Given the description of an element on the screen output the (x, y) to click on. 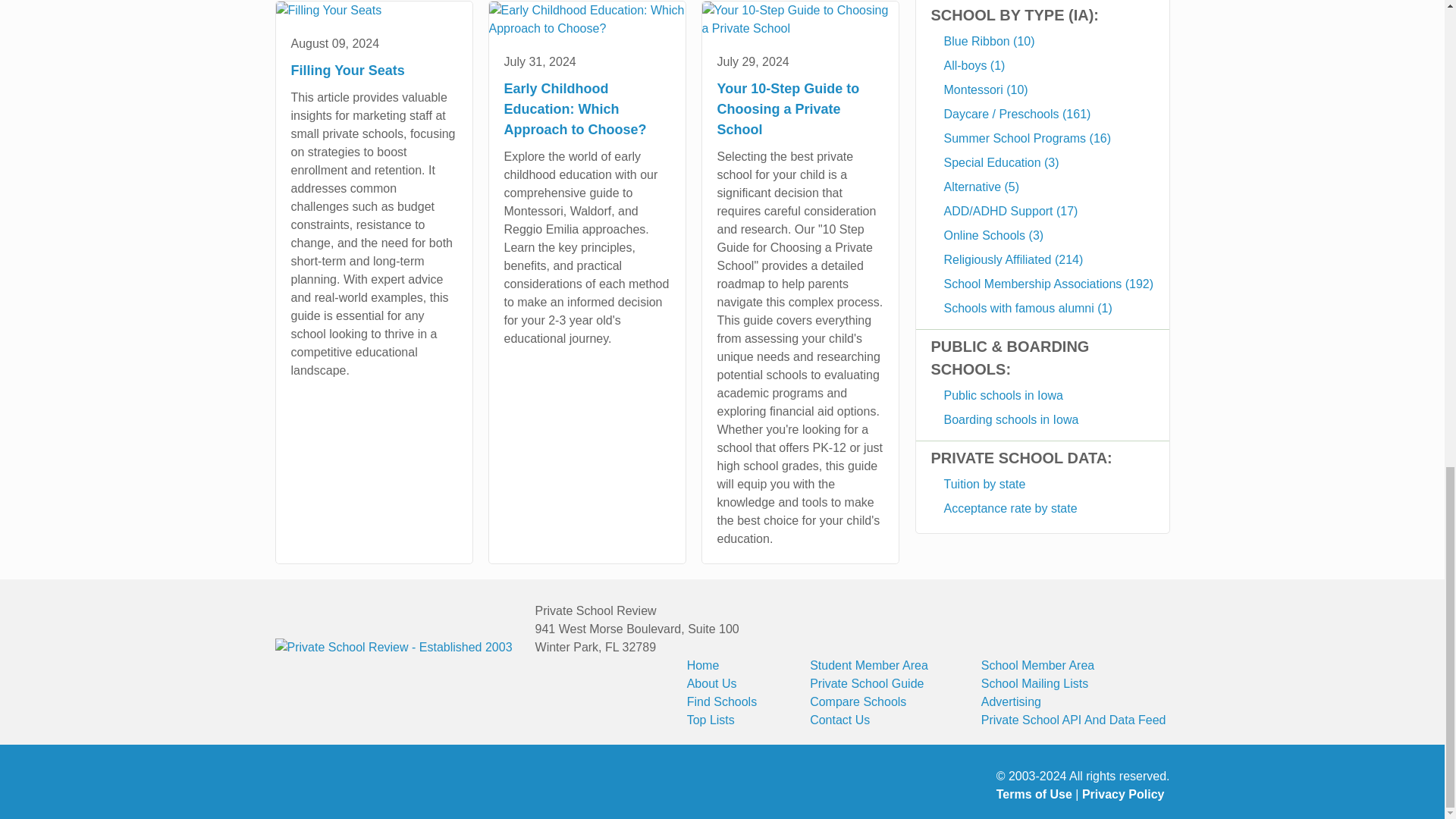
Filling Your Seats (374, 70)
Private School Review - Twitter  (288, 787)
Public schools in Iowa (1050, 395)
Filling Your Seats (328, 10)
Boarding schools in Iowa (1050, 420)
Private School Review - Facebook (321, 787)
Your 10-Step Guide to Choosing a Private School (799, 19)
Early Childhood Education: Which Approach to Choose? (585, 19)
Your 10-Step Guide to Choosing a Private School (800, 109)
Early Childhood Education: Which Approach to Choose? (586, 109)
